Given the description of an element on the screen output the (x, y) to click on. 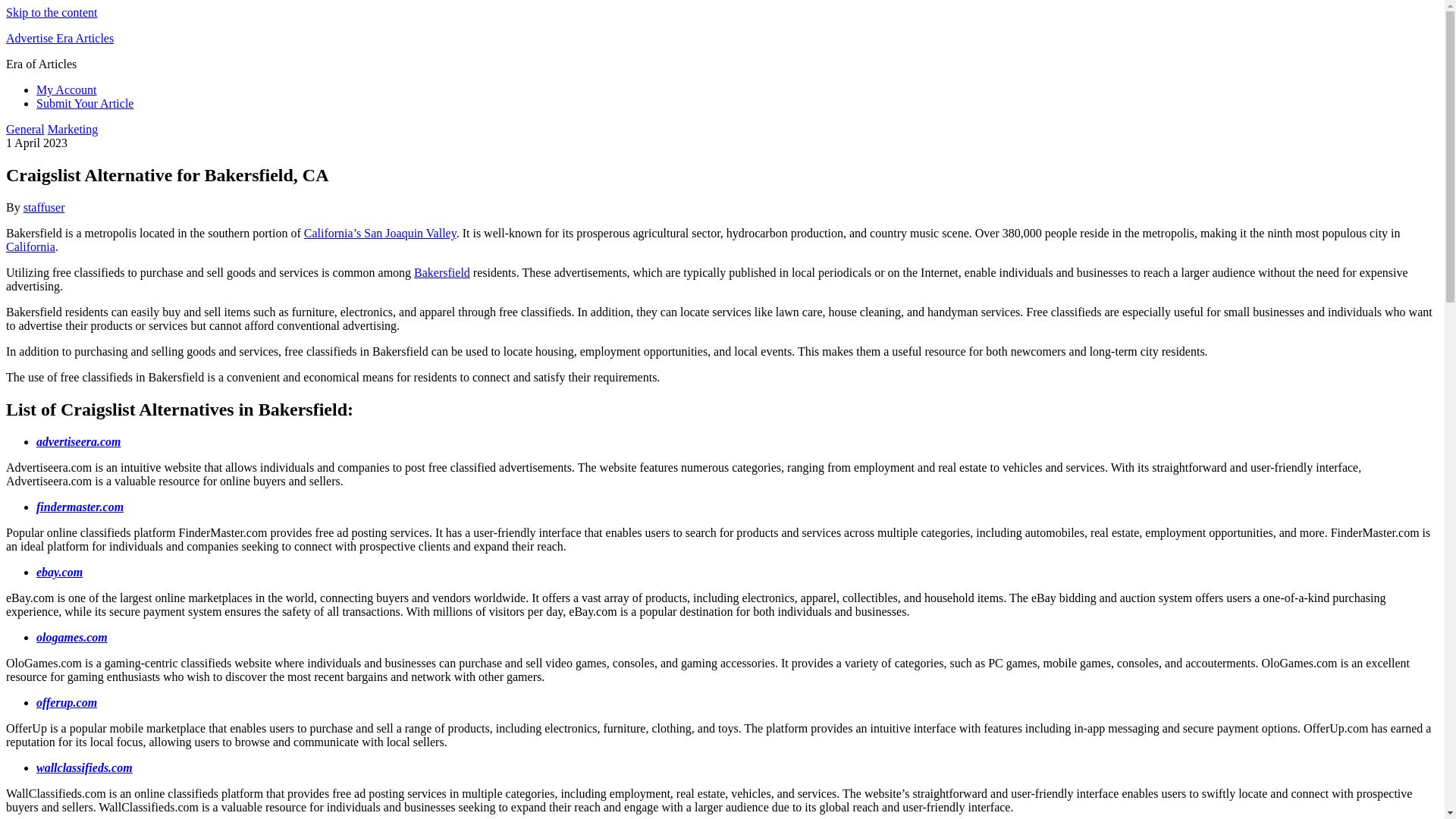
My Account (66, 89)
Skip to the content (51, 11)
advertiseera.com (78, 440)
findermaster.com (79, 506)
Submit Your Article (84, 103)
Bakersfield (441, 272)
Advertise Era Articles (59, 38)
My Account (66, 89)
wallclassifieds.com (84, 767)
Marketing (73, 128)
General (25, 128)
staffuser (44, 206)
ebay.com (59, 571)
offerup.com (66, 702)
ologames.com (71, 636)
